Given the description of an element on the screen output the (x, y) to click on. 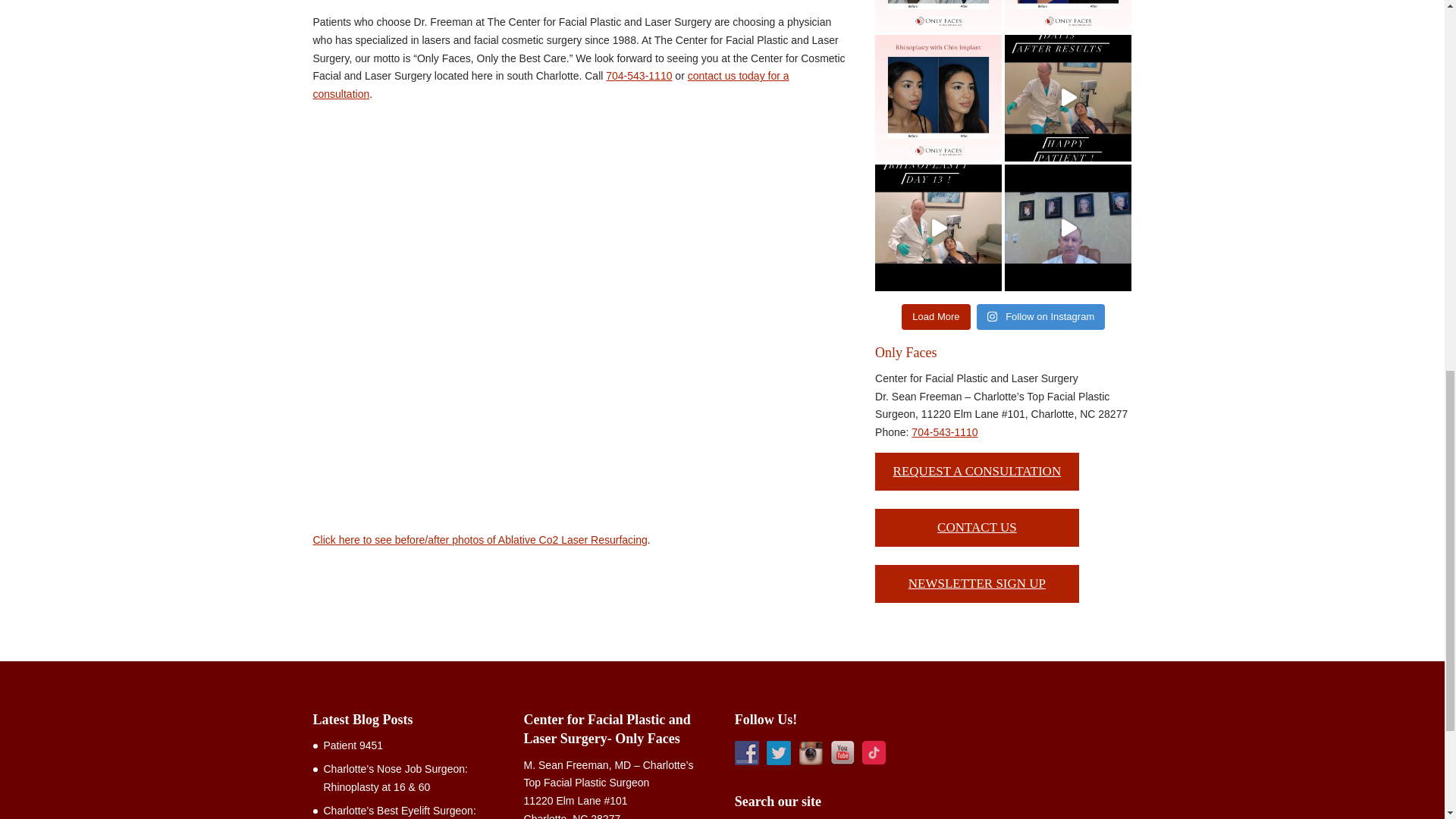
Follow Us on Twitter (778, 752)
Follow Us on YouTube (841, 752)
Follow Us on Tiktok (873, 752)
Follow Us on Facebook (746, 752)
Follow Us on Instagram (809, 752)
